Given the description of an element on the screen output the (x, y) to click on. 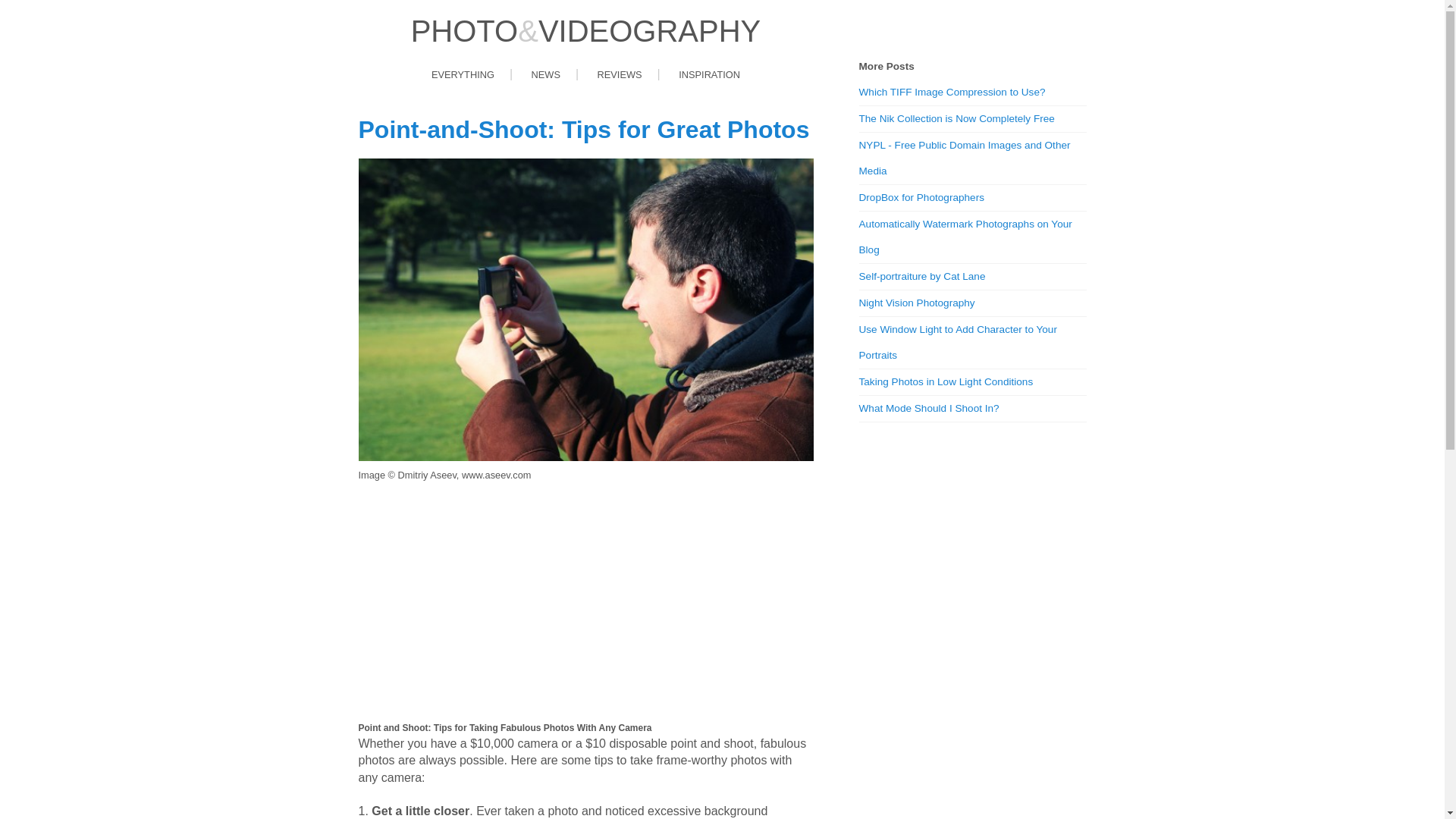
Night Vision Photography (972, 303)
Use Window Light to Add Character to Your Portraits (972, 342)
Taking Photos in Low Light Conditions (972, 382)
Which TIFF Image Compression to Use? (972, 92)
NYPL - Free Public Domain Images and Other Media (972, 158)
Self-portraiture by Cat Lane (972, 276)
EVERYTHING (462, 75)
Point-and-Shoot: Tips for Great Photos (583, 129)
NEWS (545, 75)
Advertisement (585, 602)
